Given the description of an element on the screen output the (x, y) to click on. 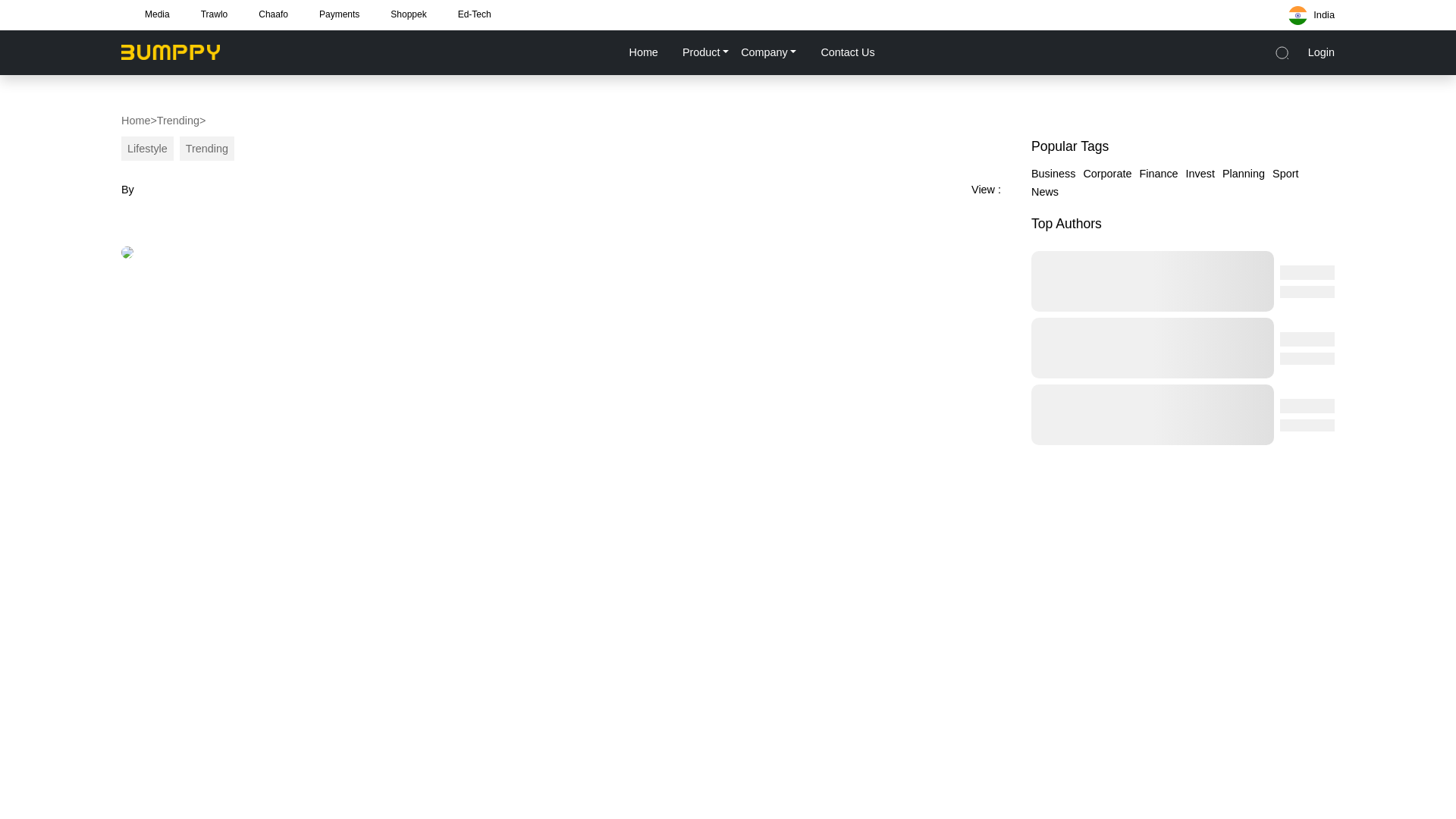
Home (134, 120)
Product (706, 52)
Company (768, 52)
Contact Us (847, 52)
Home (642, 52)
Login (1321, 52)
